Given the description of an element on the screen output the (x, y) to click on. 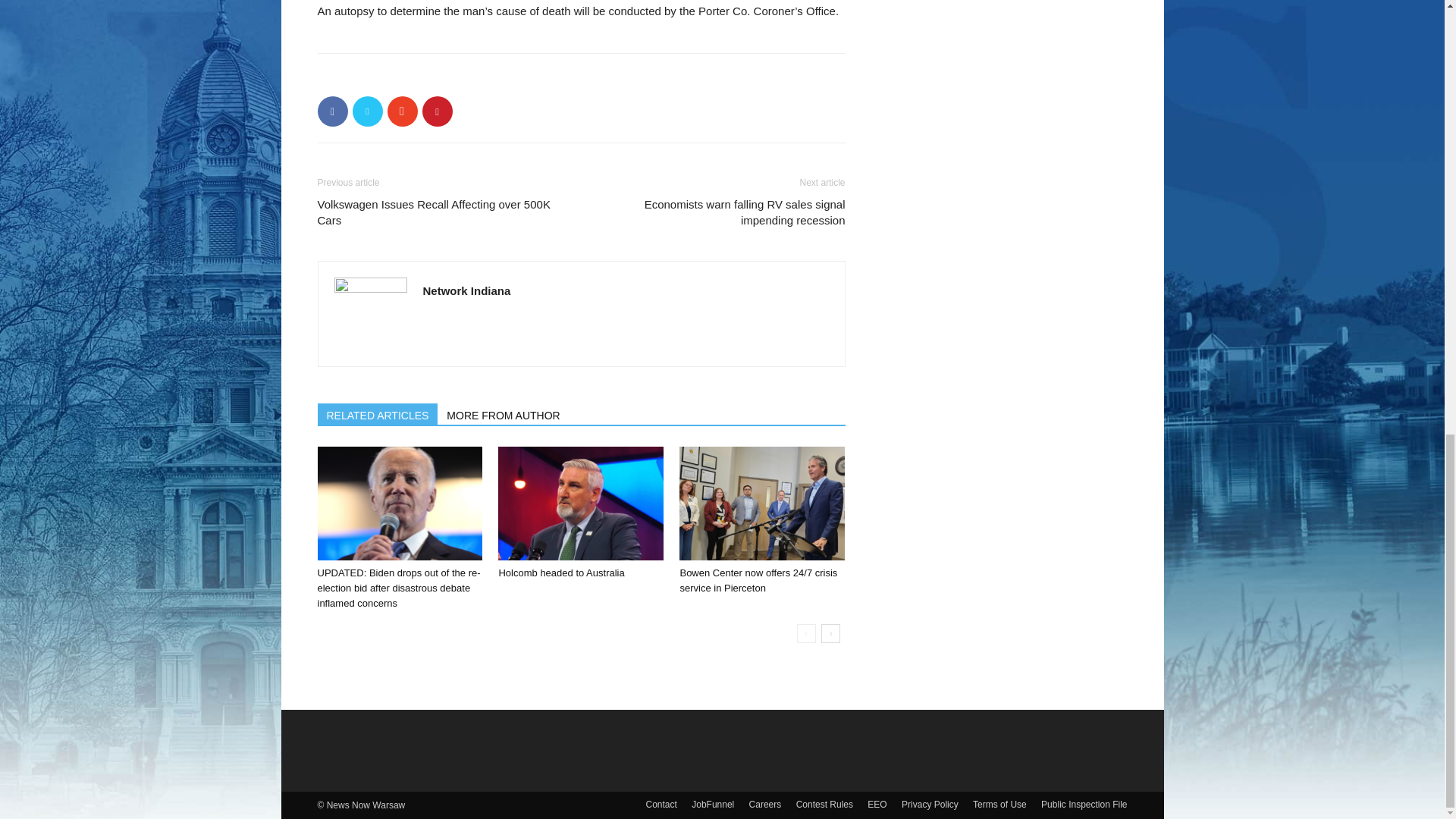
Holcomb headed to Australia (580, 503)
